Given the description of an element on the screen output the (x, y) to click on. 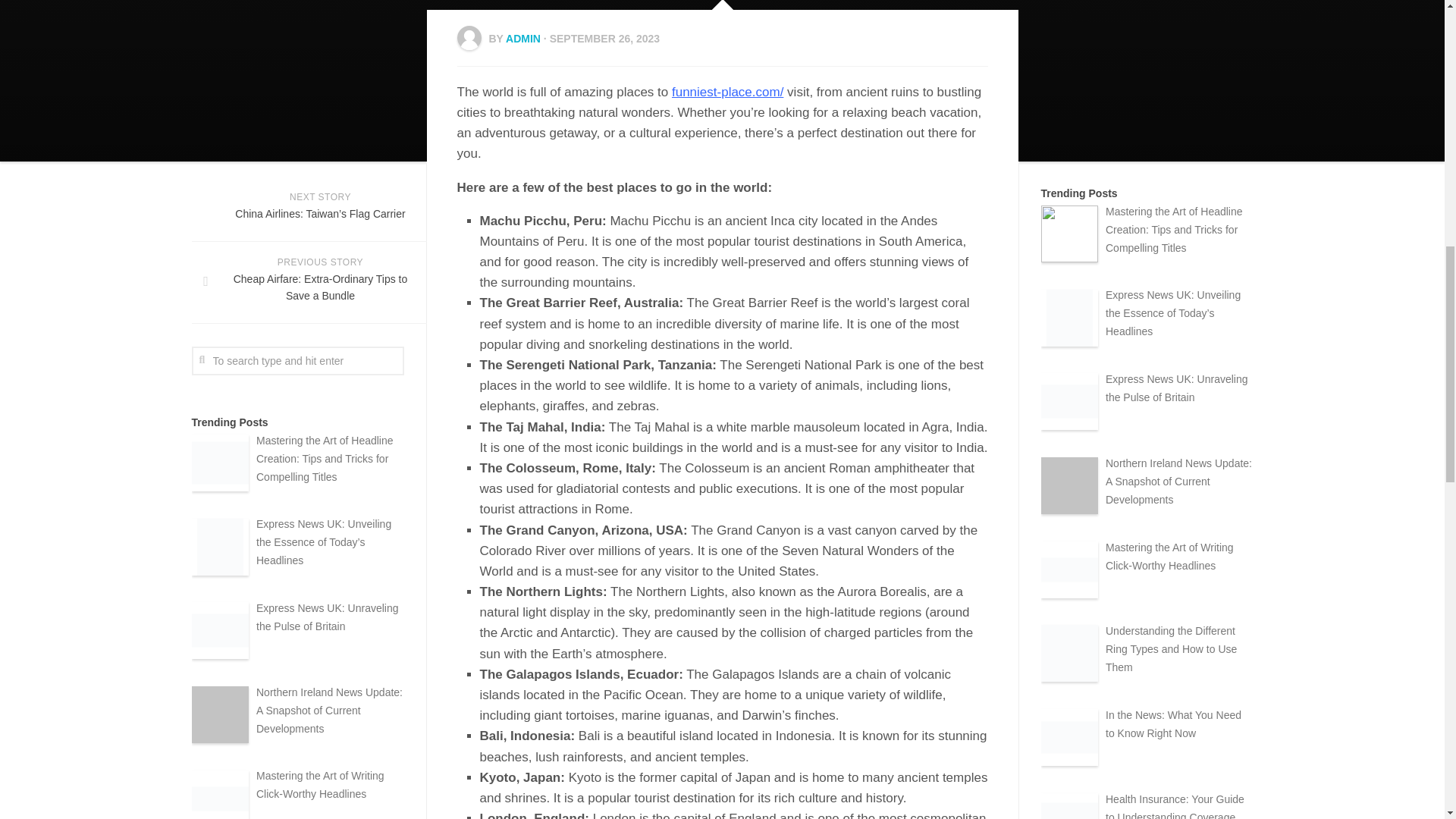
Mastering the Art of Writing Click-Worthy Headlines (320, 784)
To search type and hit enter (296, 360)
To search type and hit enter (296, 360)
ADMIN (522, 38)
Express News UK: Unraveling the Pulse of Britain (327, 616)
Posts by admin (522, 38)
